Given the description of an element on the screen output the (x, y) to click on. 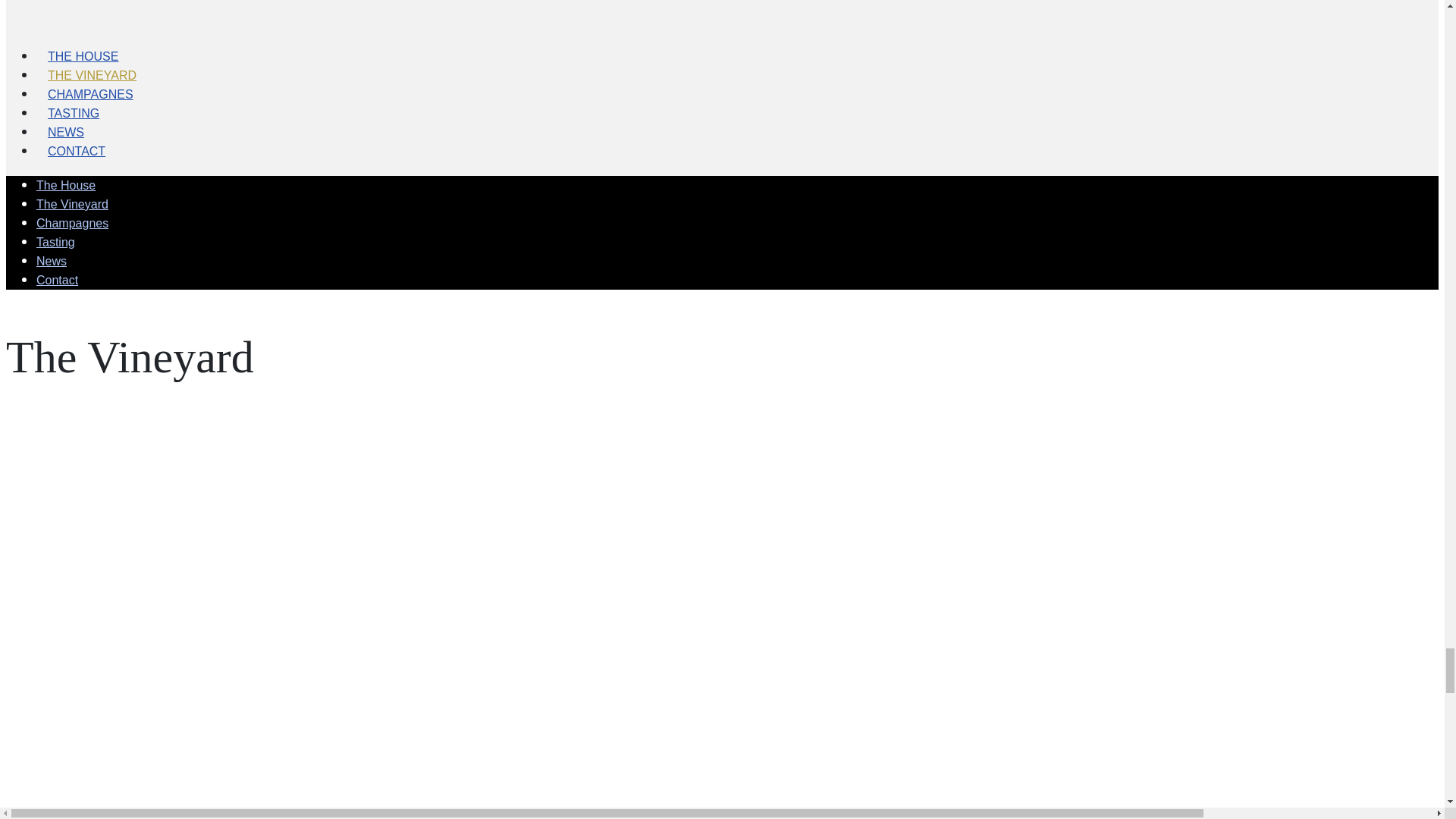
Contact (57, 279)
Champagnes (71, 223)
The Vineyard (71, 204)
News (51, 260)
The House (66, 185)
NEWS (66, 131)
THE VINEYARD (92, 75)
CHAMPAGNES (90, 94)
TASTING (73, 113)
Tasting (55, 241)
